Given the description of an element on the screen output the (x, y) to click on. 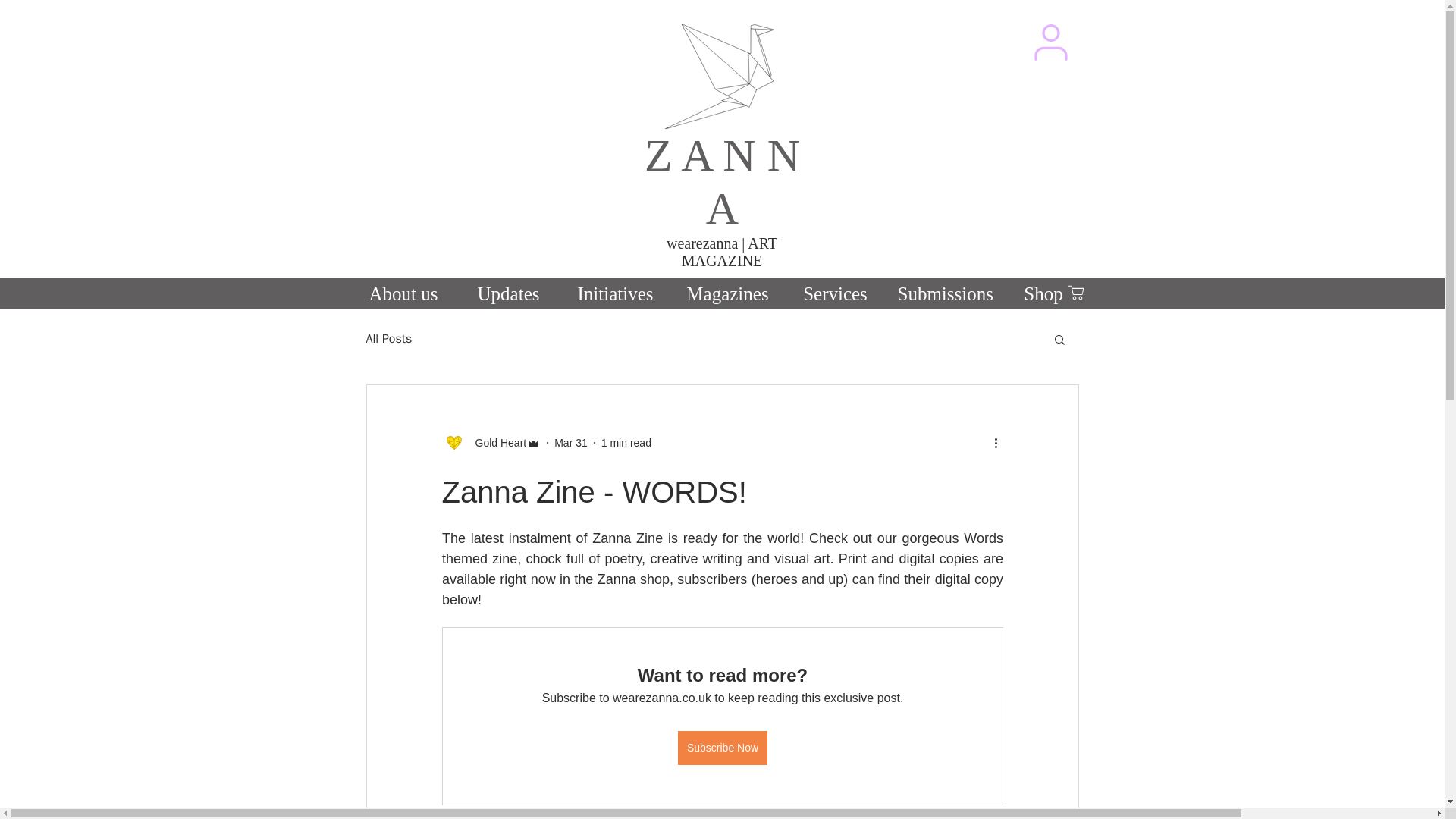
Gold Heart (495, 442)
Mar 31 (571, 442)
All Posts (388, 338)
Magazines (726, 291)
Updates (508, 291)
Submissions (944, 291)
Subscribe Now (722, 747)
Gold Heart (490, 442)
Services (834, 291)
1 min read (625, 442)
